Given the description of an element on the screen output the (x, y) to click on. 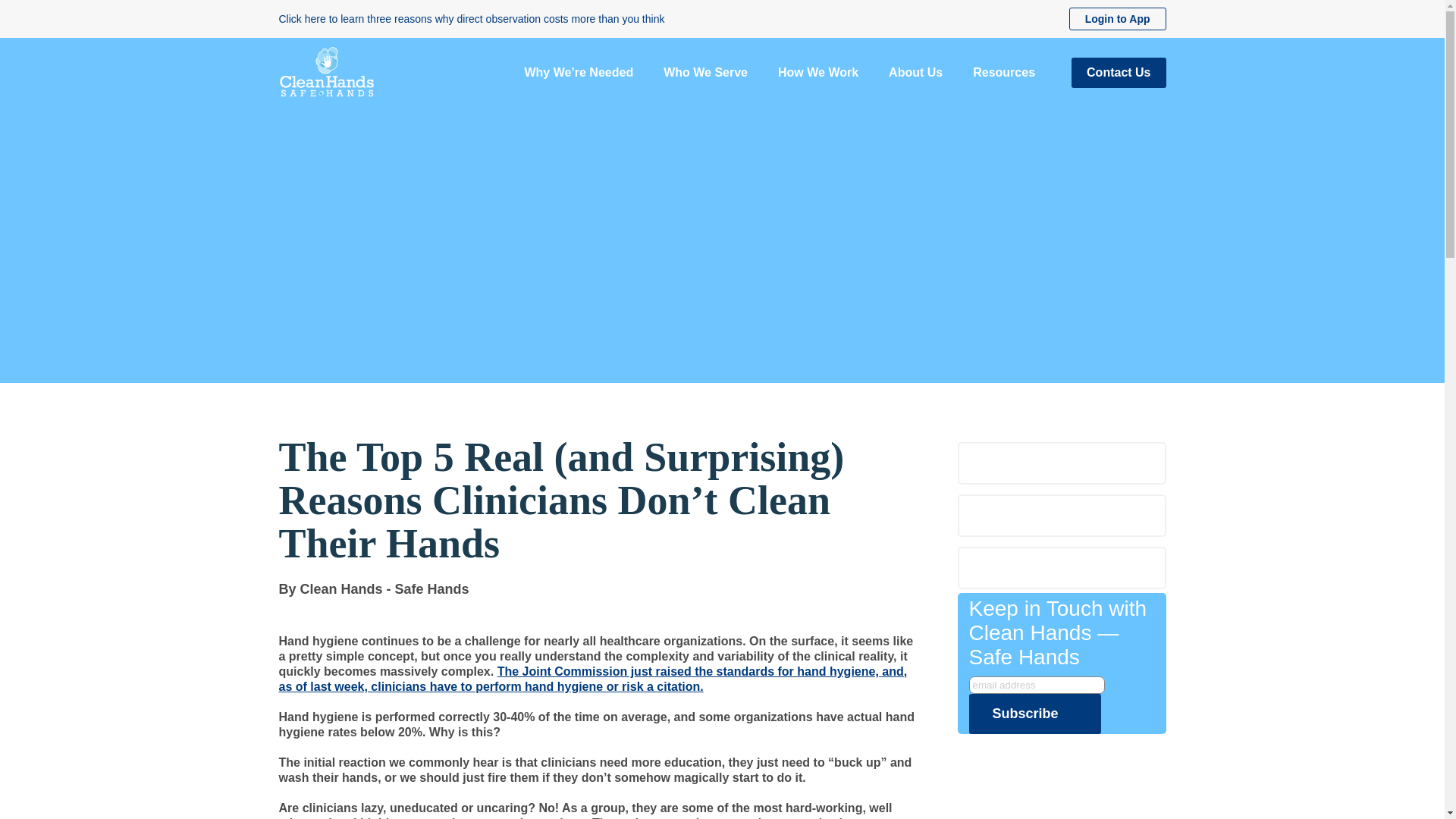
How We Work (818, 72)
About Us (915, 72)
Login to App (1117, 18)
Subscribe (1034, 713)
Contact Us (1118, 72)
Who We Serve (705, 72)
Resources (1003, 72)
